Given the description of an element on the screen output the (x, y) to click on. 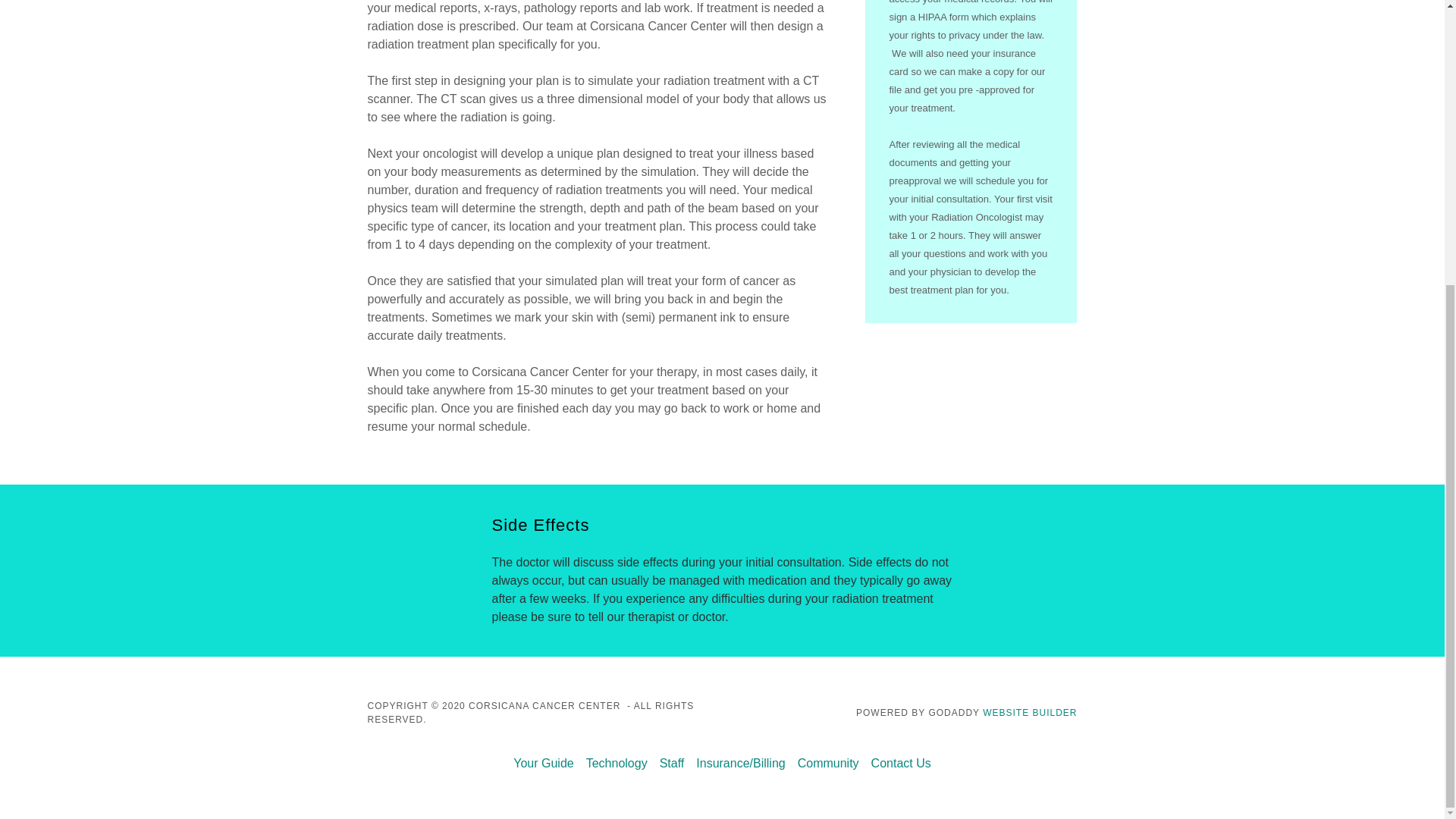
Your Guide (542, 763)
Community (828, 763)
Contact Us (900, 763)
WEBSITE BUILDER (1029, 712)
Staff (671, 763)
Technology (616, 763)
